Given the description of an element on the screen output the (x, y) to click on. 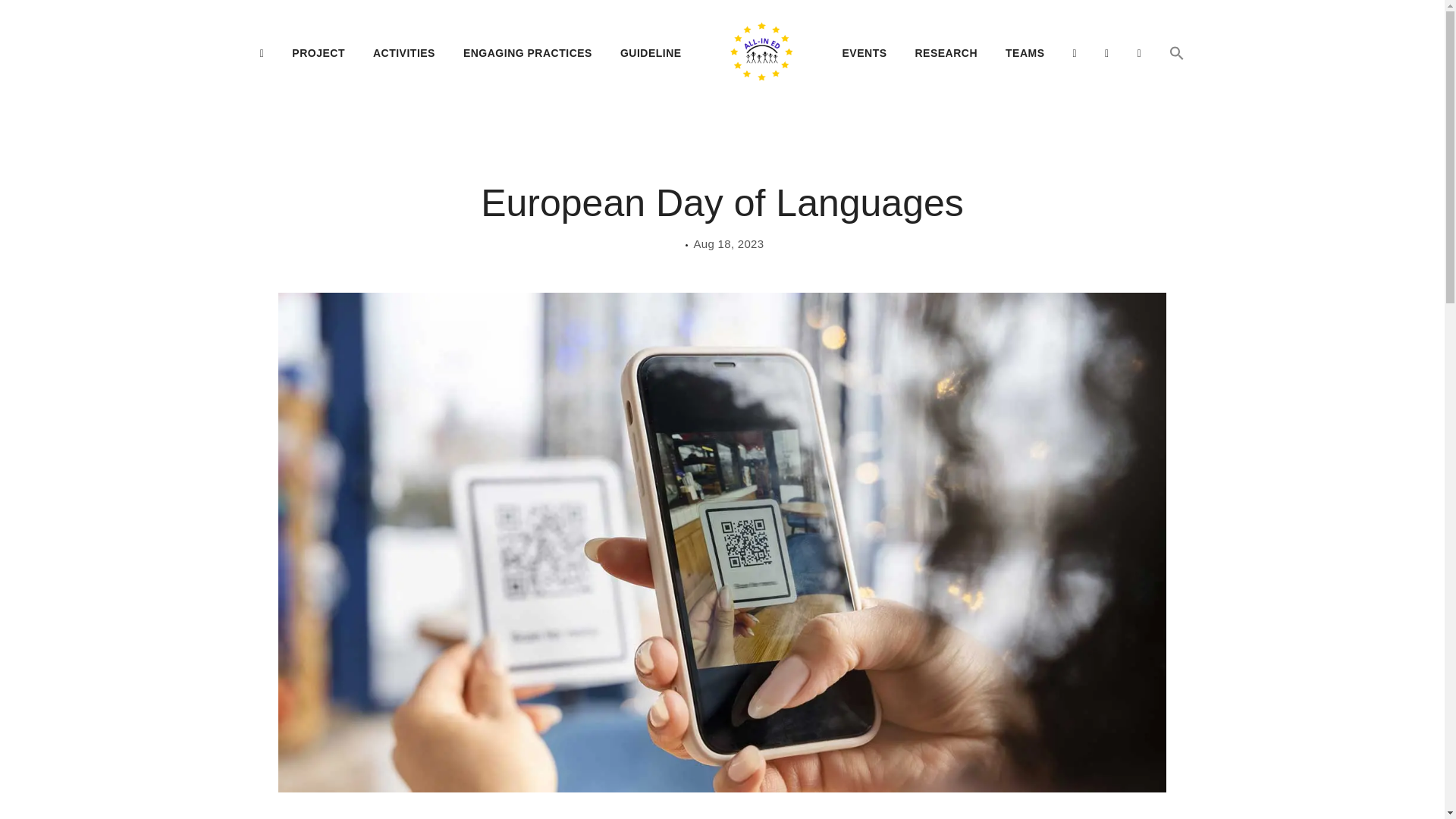
TEAMS (1024, 52)
RESEARCH (946, 52)
ENGAGING PRACTICES (527, 52)
EVENTS (864, 52)
GUIDELINE (651, 52)
ACTIVITIES (403, 52)
PROJECT (317, 52)
